Given the description of an element on the screen output the (x, y) to click on. 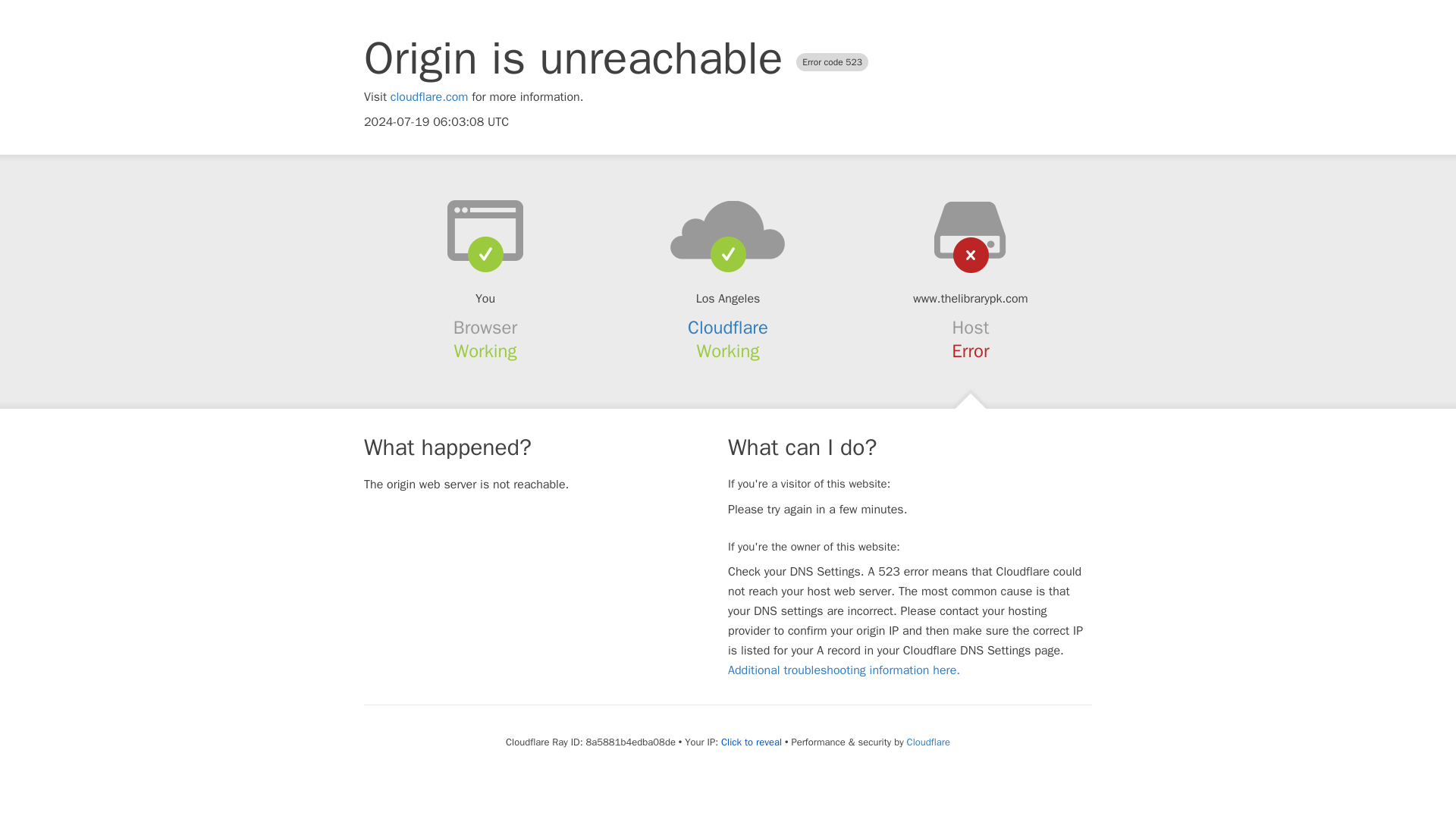
Additional troubleshooting information here. (843, 670)
Cloudflare (928, 741)
Click to reveal (750, 742)
Cloudflare (727, 327)
cloudflare.com (429, 96)
